Given the description of an element on the screen output the (x, y) to click on. 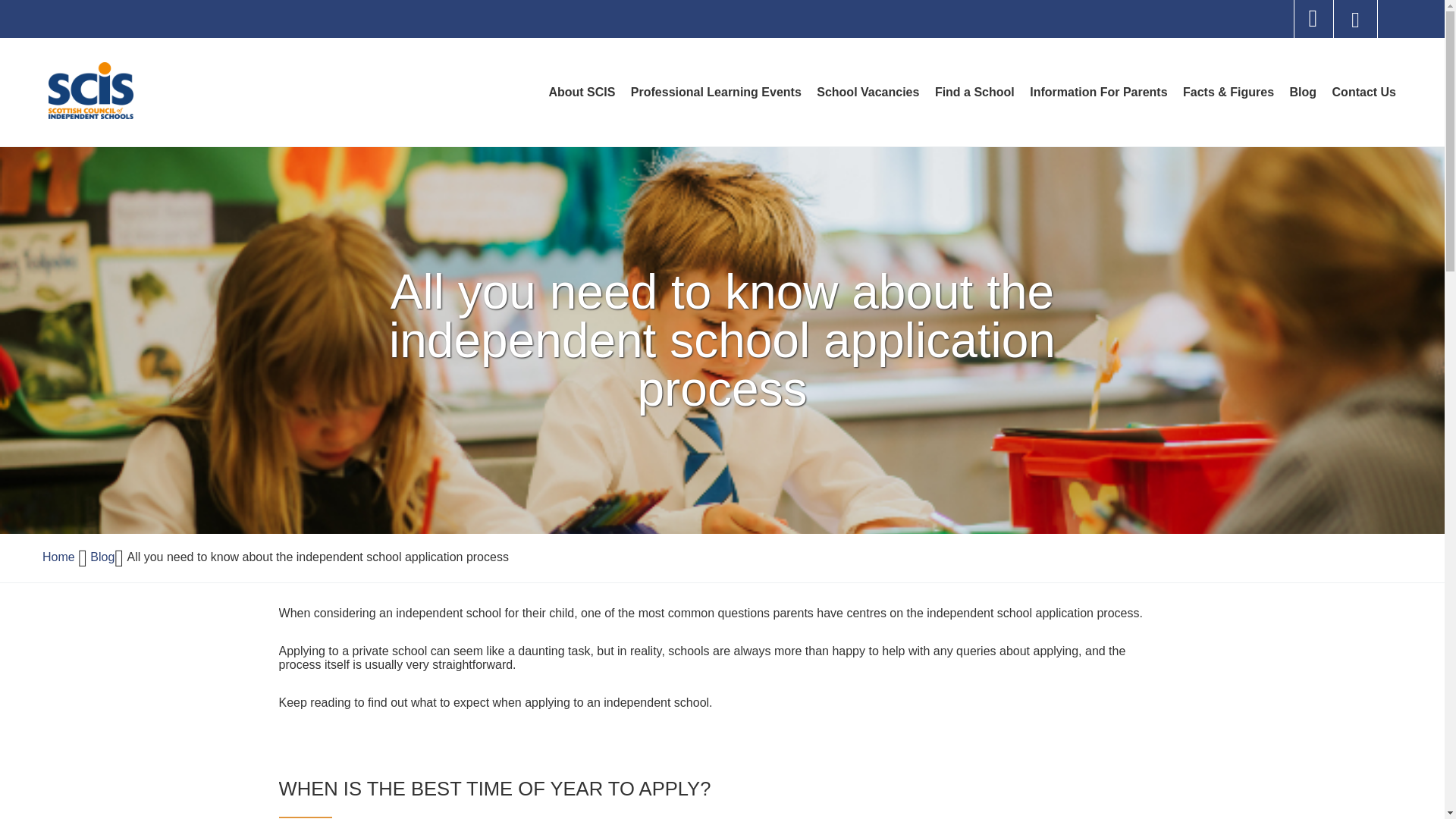
Blog (1303, 91)
Professional Learning Events (716, 91)
Home (58, 556)
Blog (867, 91)
Submit (581, 91)
